Given the description of an element on the screen output the (x, y) to click on. 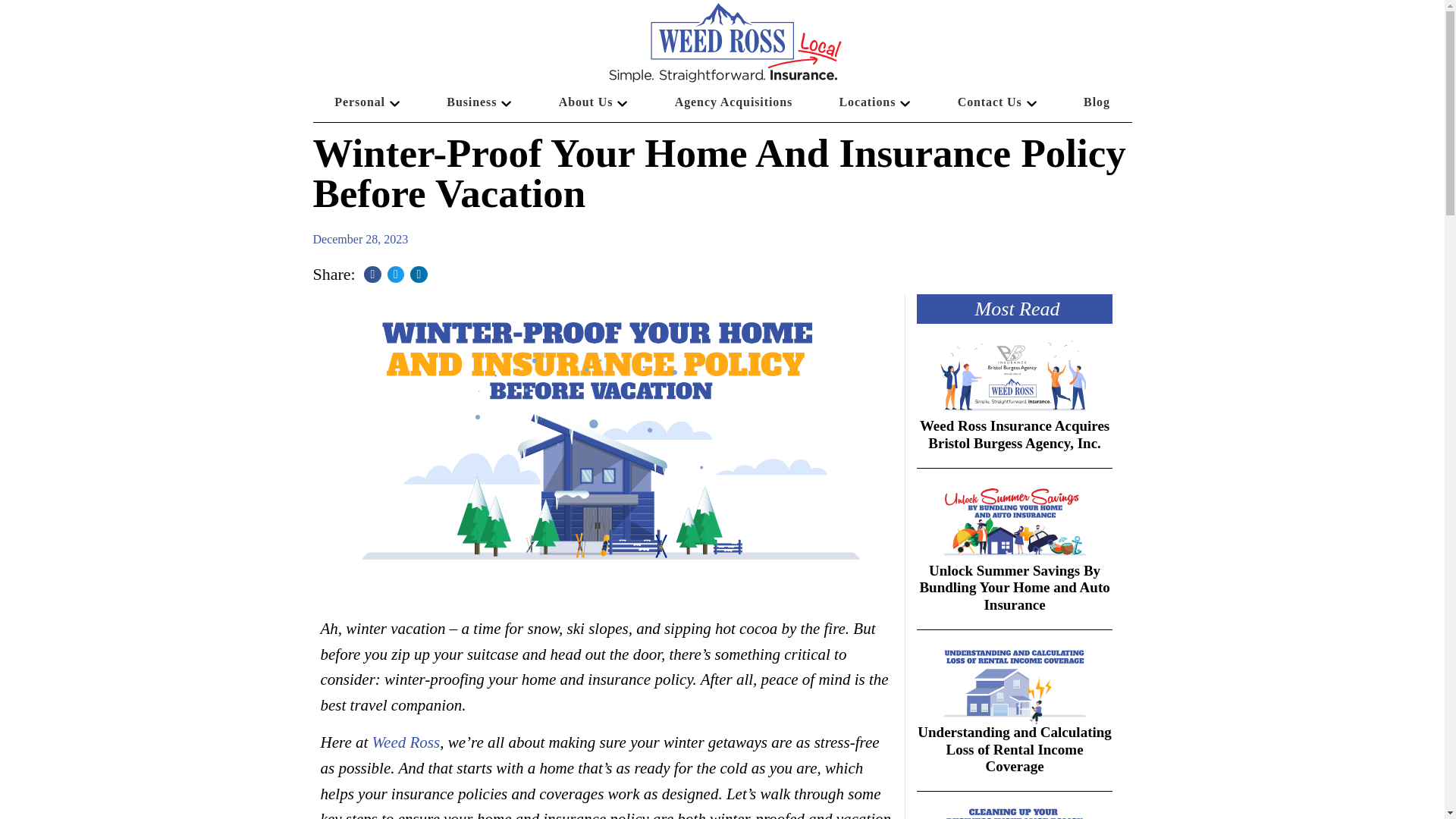
Locations (874, 101)
Contact Us (997, 101)
Blog (1096, 101)
Business (479, 101)
About Us (593, 101)
Personal (367, 101)
Agency Acquisitions (732, 101)
